Given the description of an element on the screen output the (x, y) to click on. 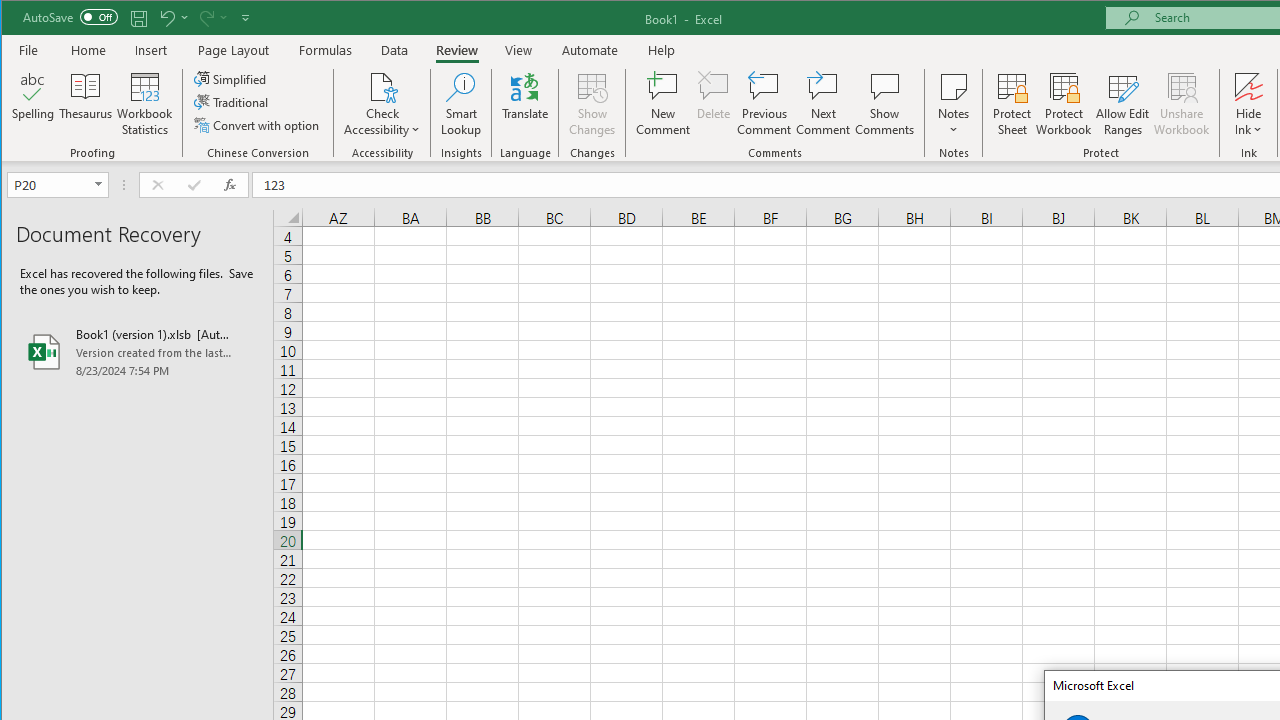
Next Comment (822, 104)
Convert with option (258, 124)
Book1 (version 1).xlsb  [AutoRecovered] (137, 352)
AutoSave (70, 16)
Check Accessibility (381, 104)
Workbook Statistics (145, 104)
Simplified (231, 78)
Traditional (232, 101)
